Given the description of an element on the screen output the (x, y) to click on. 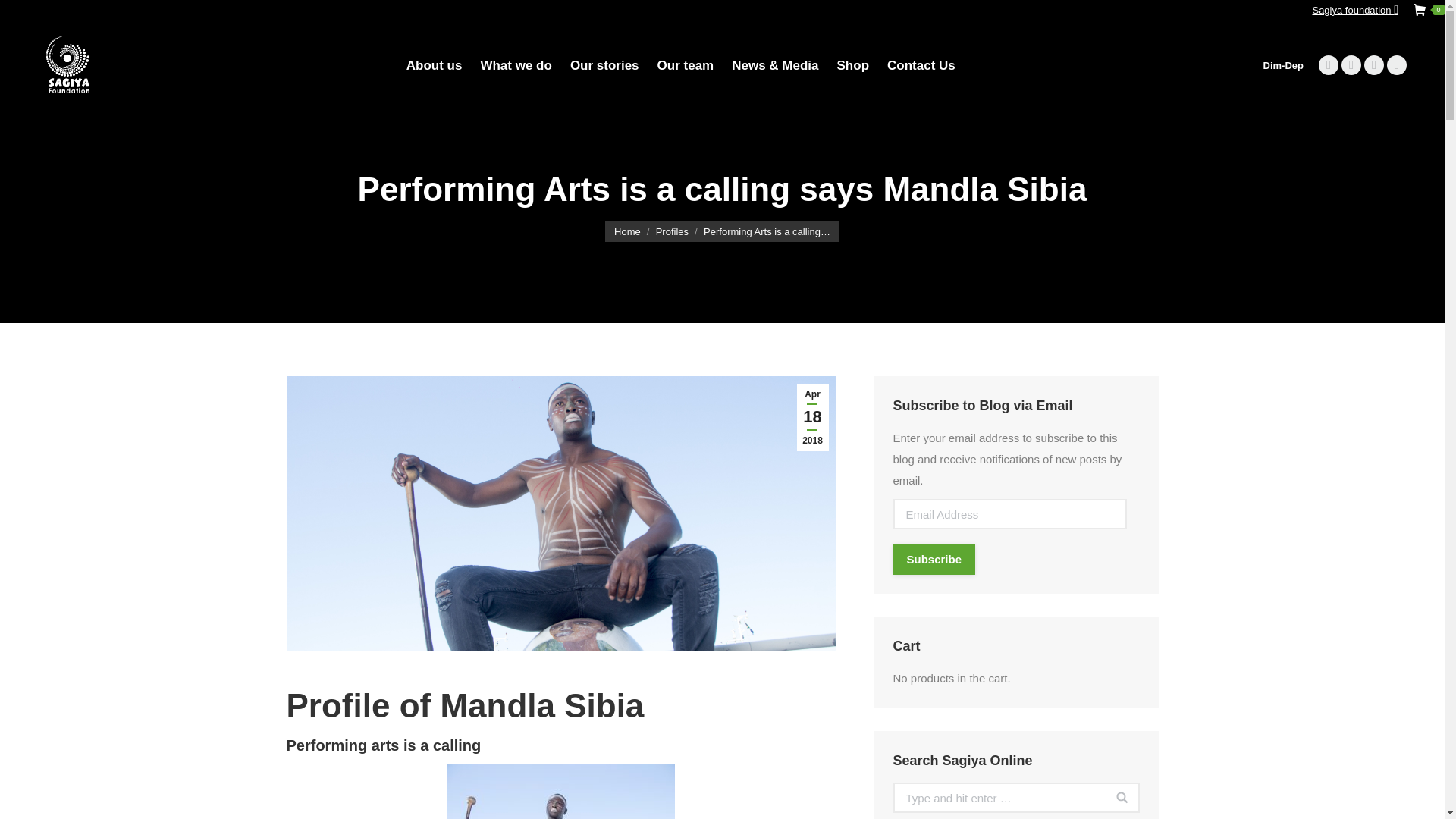
mandla3 (1354, 9)
Twitter (1350, 65)
Contact Us (1350, 65)
Shop (921, 64)
Facebook (852, 64)
Subscribe (1328, 65)
Our stories (934, 559)
Facebook (604, 64)
Go! (1354, 9)
Facebook (1114, 805)
Go! (1328, 65)
YouTube (1114, 805)
Instagram (1396, 65)
